Given the description of an element on the screen output the (x, y) to click on. 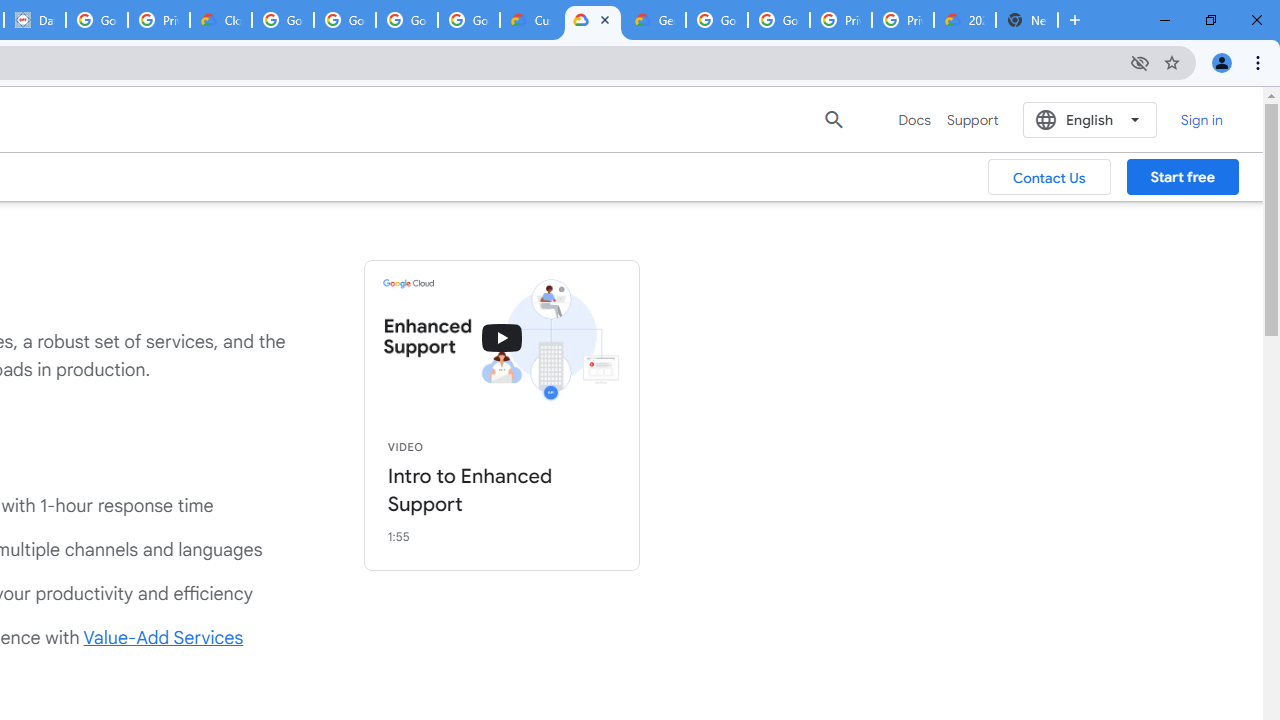
Contact Us (1049, 177)
Value-Add Services (163, 637)
Cloud Data Processing Addendum | Google Cloud (220, 20)
Docs (914, 119)
Enhanced Support | Google Cloud (592, 20)
Gemini for Business and Developers | Google Cloud (654, 20)
Google Workspace - Specific Terms (468, 20)
